Given the description of an element on the screen output the (x, y) to click on. 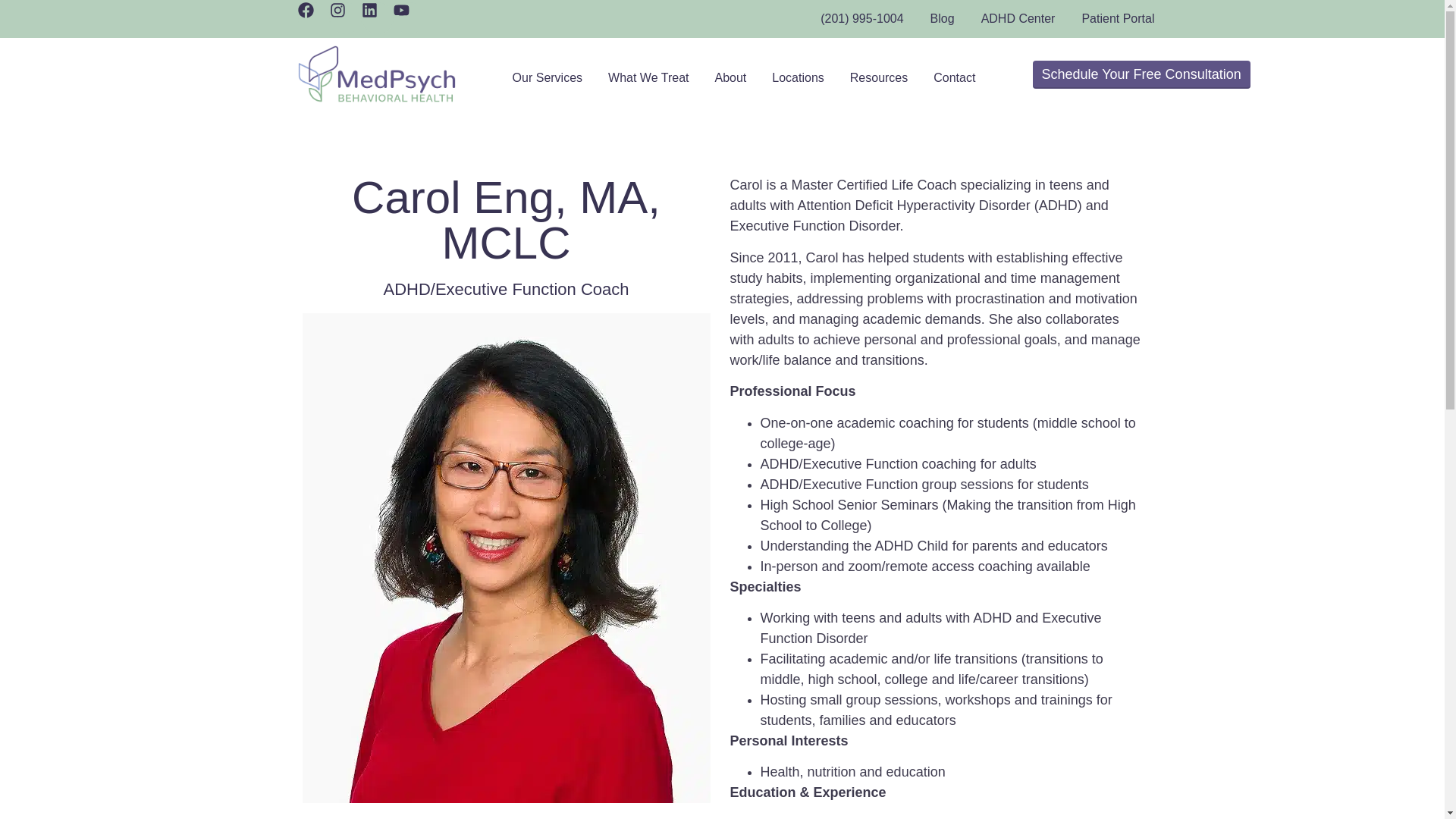
Locations (797, 77)
About (729, 77)
What We Treat (648, 77)
Blog (942, 18)
Patient Portal (1117, 18)
Our Services (547, 77)
ADHD Center (1018, 18)
